Given the description of an element on the screen output the (x, y) to click on. 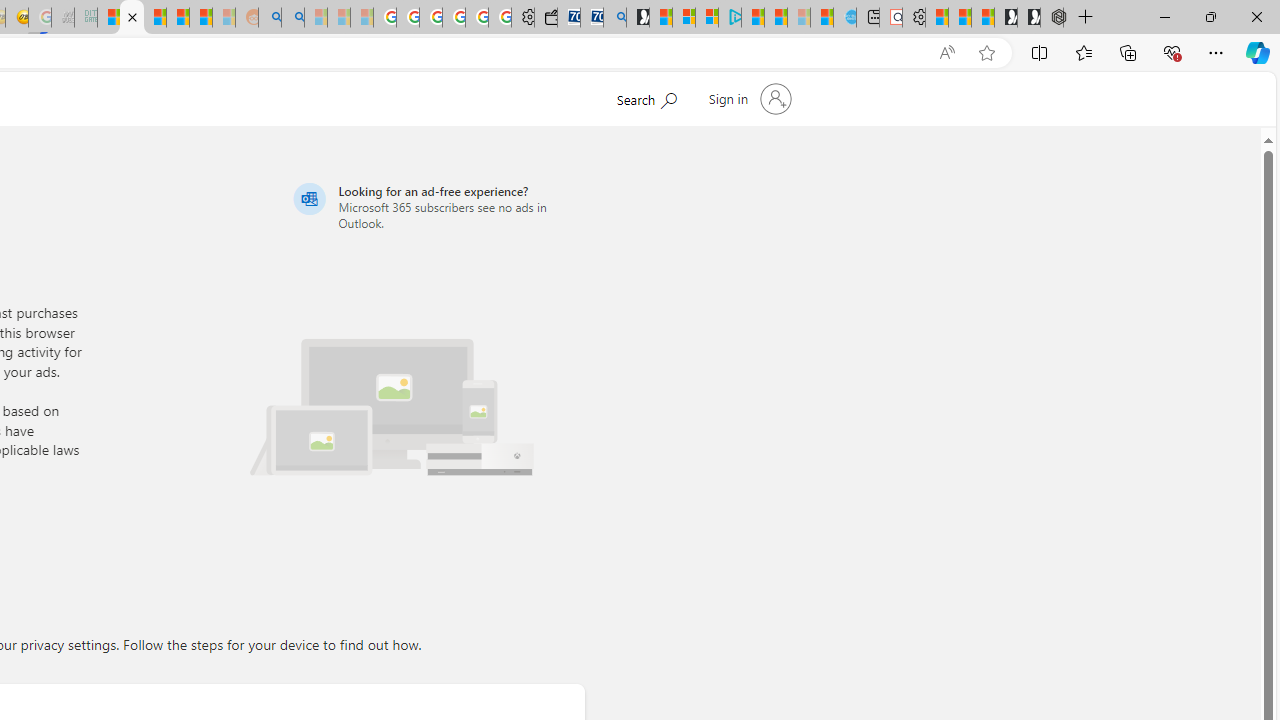
Search Microsoft.com (684, 97)
